Given the description of an element on the screen output the (x, y) to click on. 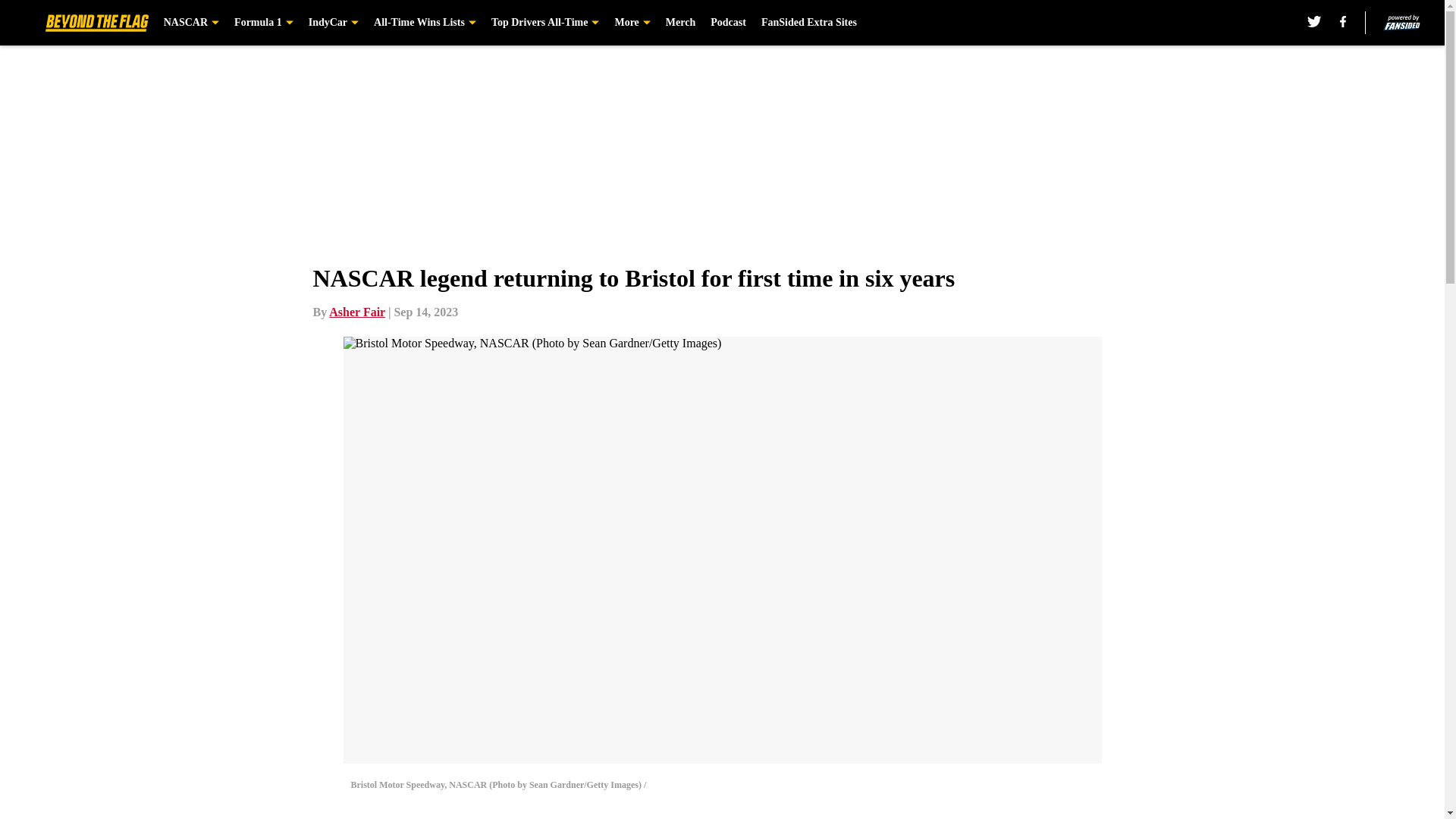
Asher Fair (357, 311)
FanSided Extra Sites (809, 22)
Podcast (727, 22)
Merch (680, 22)
